Given the description of an element on the screen output the (x, y) to click on. 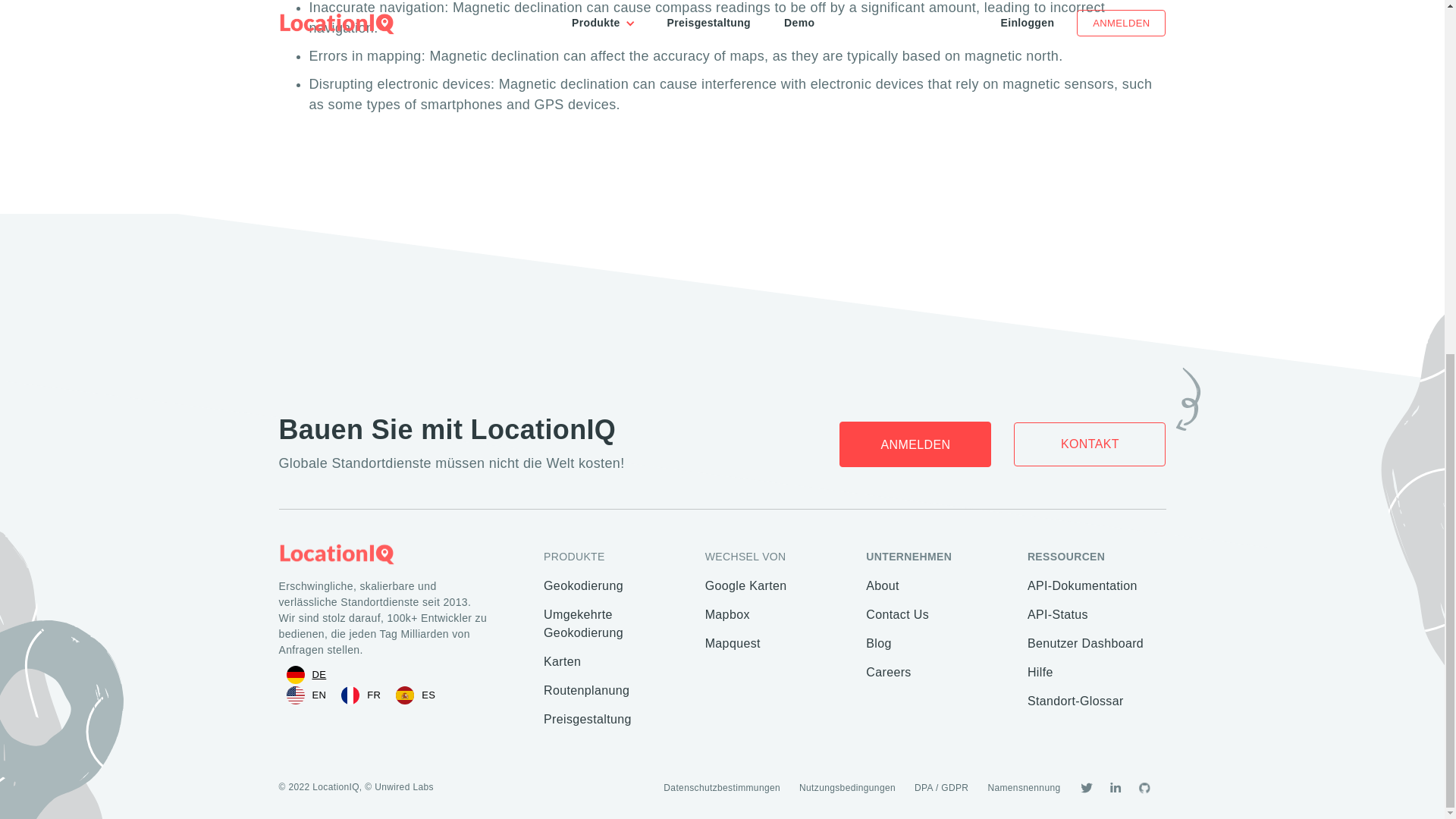
ES (415, 695)
About (935, 591)
Routenplanung (612, 695)
Careers (935, 677)
Datenschutzbestimmungen (721, 787)
Hilfe (1096, 677)
EN (306, 695)
Preisgestaltung (612, 724)
Geokodierung (612, 591)
Umgekehrte Geokodierung (612, 629)
Standort-Glossar (1096, 706)
Nutzungsbedingungen (847, 787)
DE (306, 674)
Karten (612, 666)
ANMELDEN (915, 443)
